Given the description of an element on the screen output the (x, y) to click on. 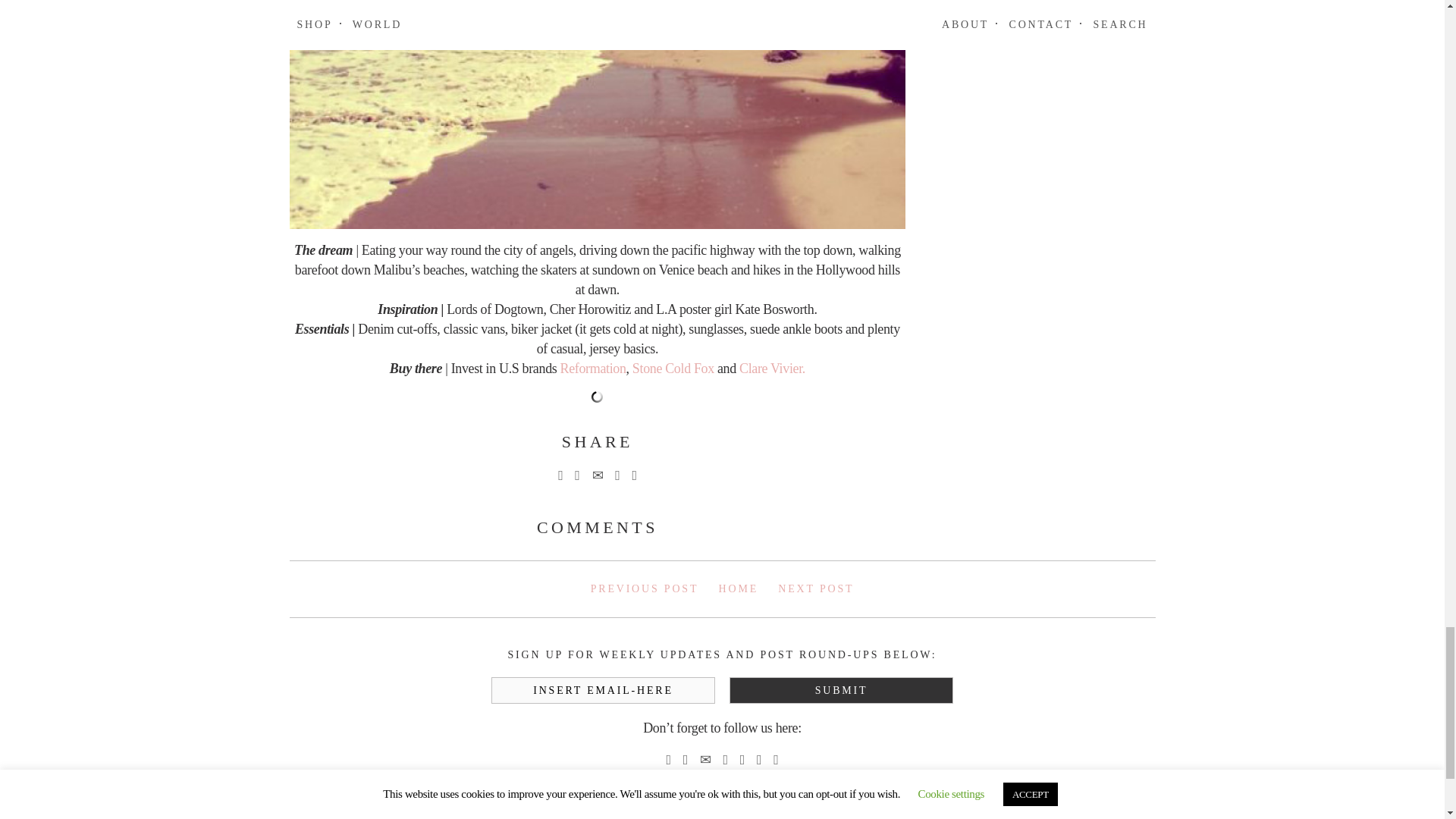
Clare Vivier. (772, 368)
Reformation (593, 368)
Stone Cold Fox (672, 368)
